Given the description of an element on the screen output the (x, y) to click on. 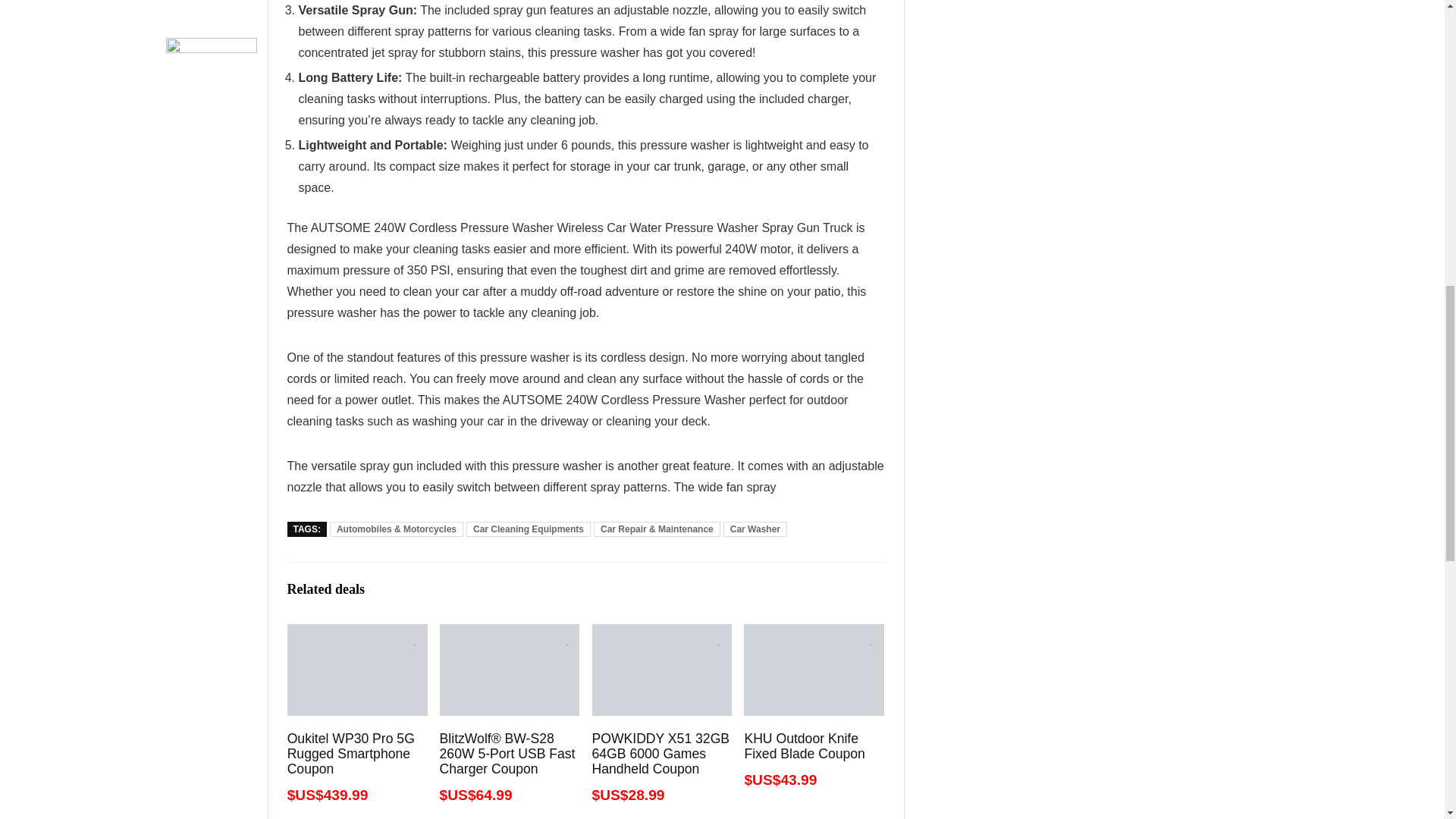
KHU Outdoor Knife Fixed Blade Coupon (804, 746)
POWKIDDY X51 32GB 64GB 6000 Games Handheld Coupon (660, 753)
Car Cleaning Equipments (528, 529)
Car Washer (755, 529)
Oukitel WP30 Pro 5G Rugged Smartphone Coupon (350, 753)
